Given the description of an element on the screen output the (x, y) to click on. 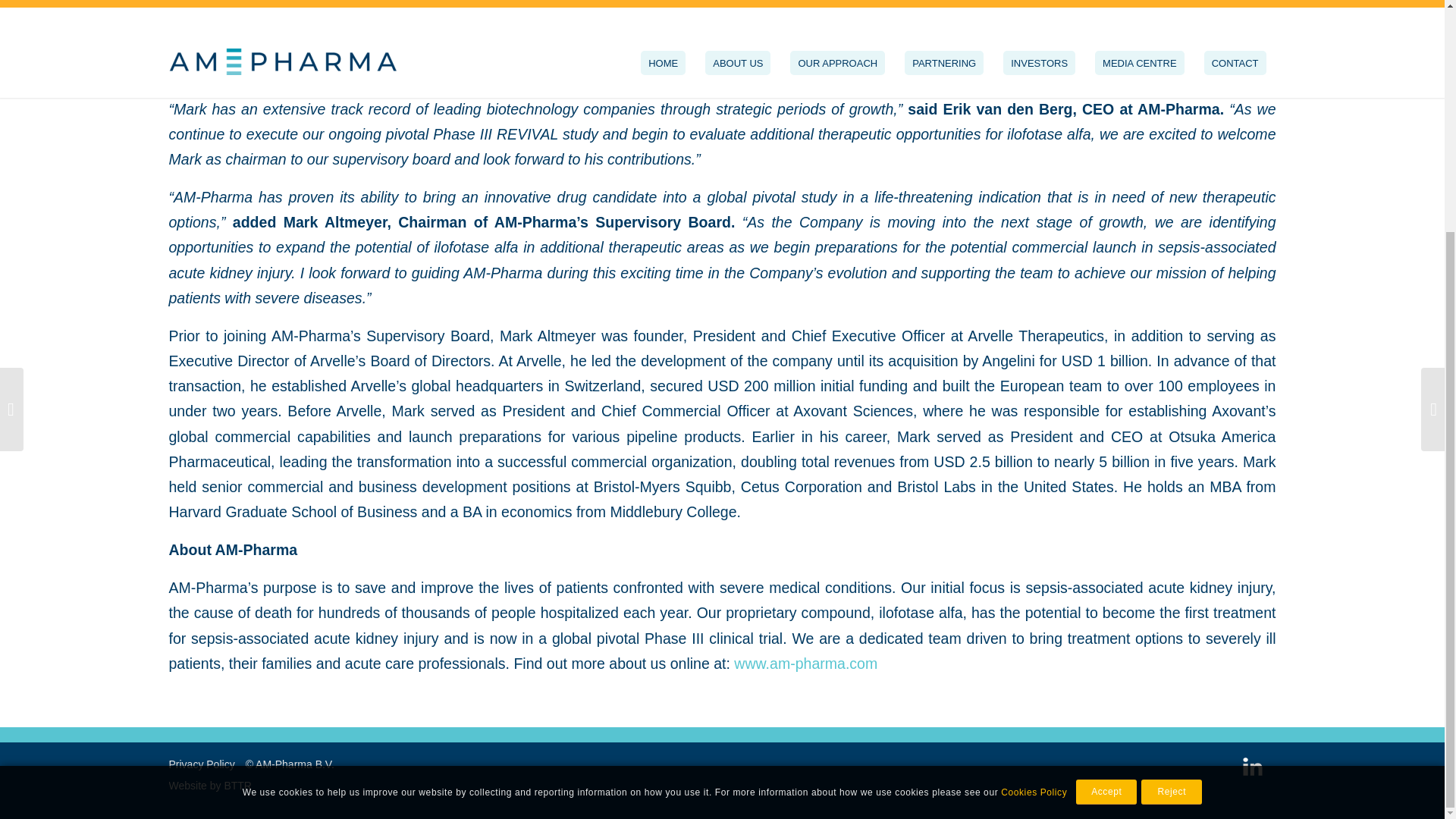
www.am-pharma.com (805, 663)
Cookies Policy (1034, 477)
BTTR (237, 785)
Privacy Policy (201, 763)
Accept (1106, 477)
Reject (1171, 477)
